Given the description of an element on the screen output the (x, y) to click on. 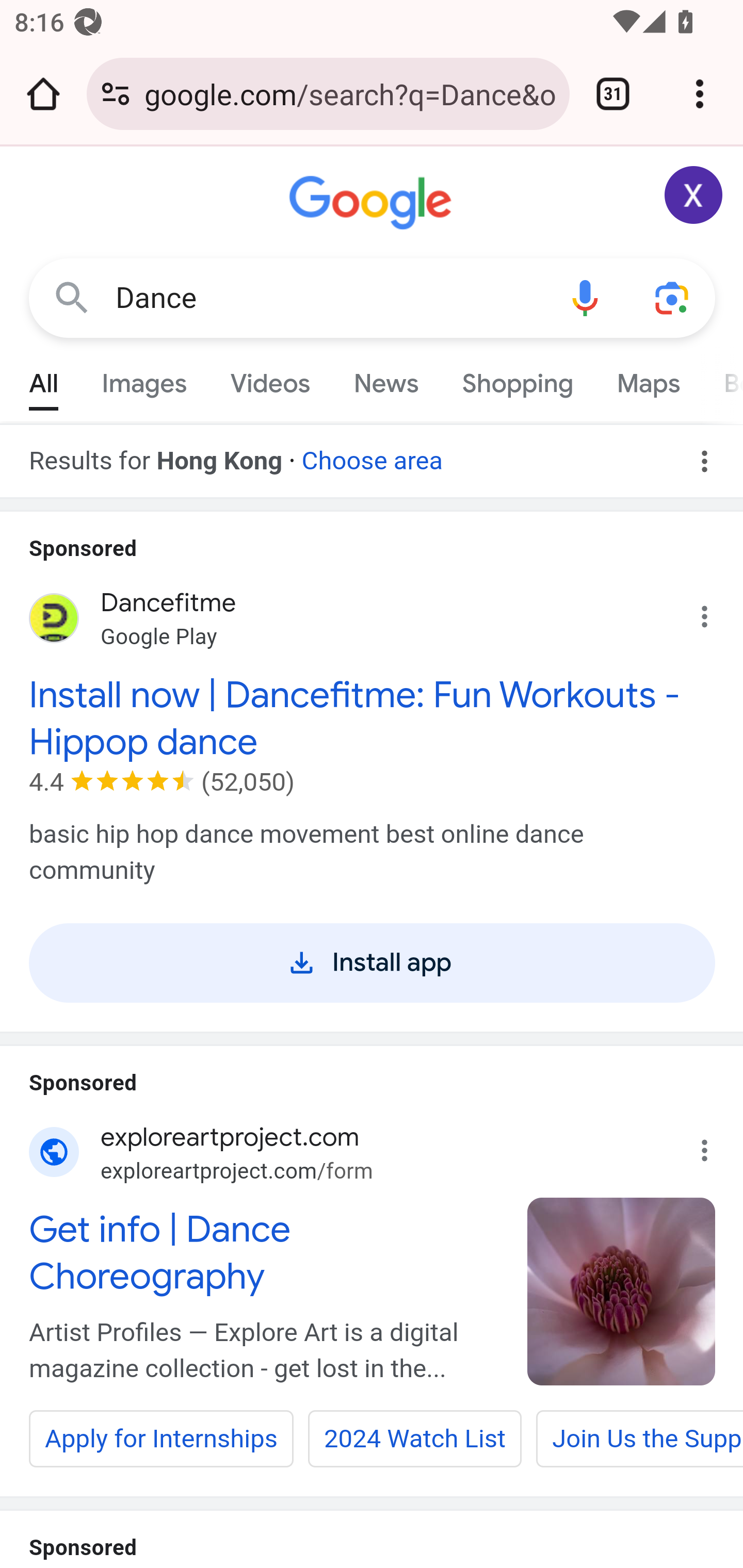
Open the home page (43, 93)
Connection is secure (115, 93)
Switch or close tabs (612, 93)
Customize and control Google Chrome (699, 93)
Google (372, 203)
Google Account: Xiaoran (zxrappiumtest@gmail.com) (694, 195)
Google Search (71, 296)
Search using your camera or photos (672, 296)
Dance (328, 297)
Images (144, 378)
Videos (270, 378)
News (385, 378)
Shopping (516, 378)
Maps (647, 378)
Choose area (371, 453)
Why this ad? (714, 611)
Install app (372, 962)
Why this ad? (714, 1145)
Image from exploreartproject.com (621, 1291)
Apply for Internships (161, 1439)
2024 Watch List (414, 1439)
Join Us the Support Team (638, 1439)
